Given the description of an element on the screen output the (x, y) to click on. 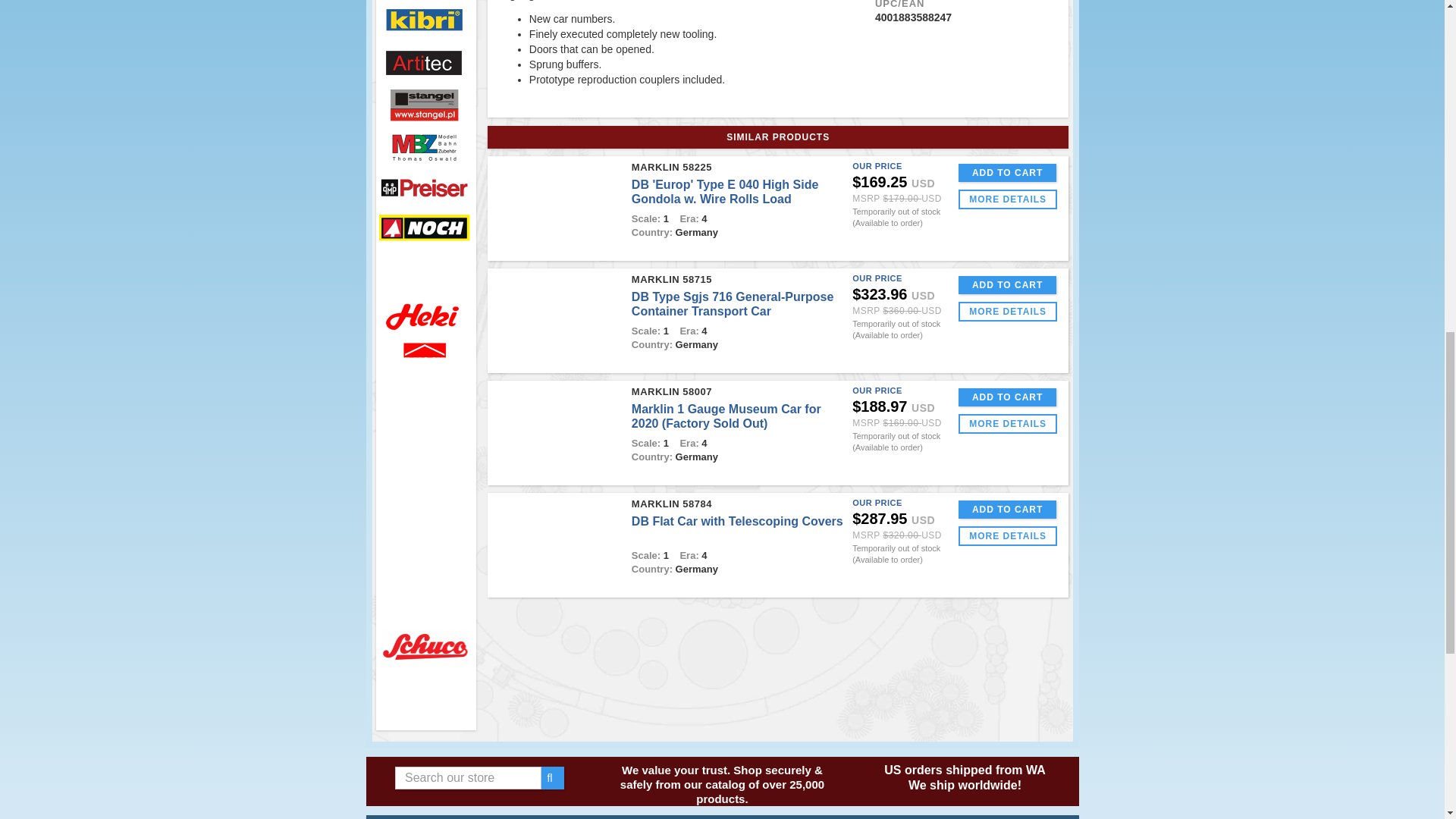
Marklin 58784 DB Flat Car with Telescoping Covers (557, 545)
Marklin 58715 DB Type Sgjs 716 General-Purpose Container Tr (557, 321)
Marklin 58225 DB 'Europ' Type E 040 High Side Gondola w. Wi (557, 209)
